Given the description of an element on the screen output the (x, y) to click on. 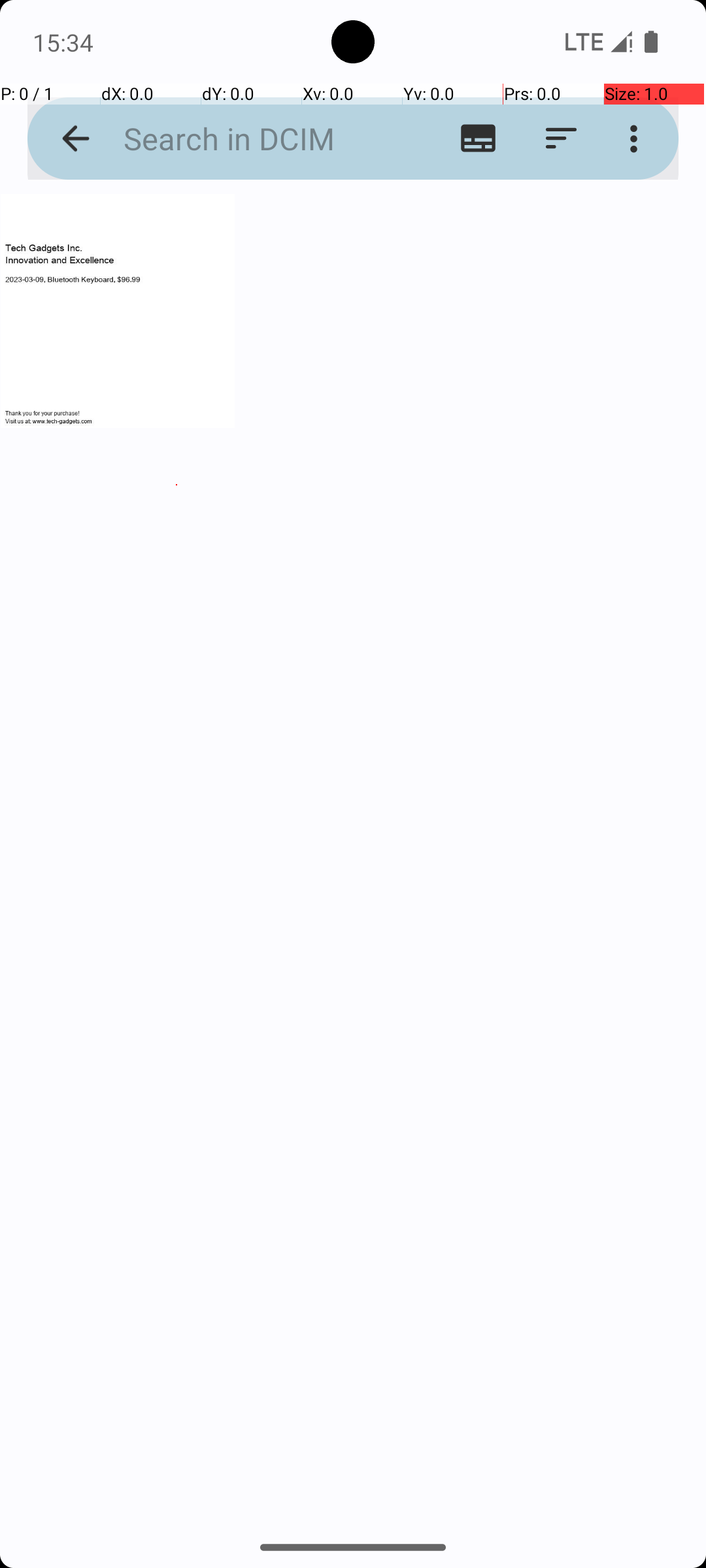
Search in DCIM Element type: android.widget.EditText (252, 138)
Toggle filename visibility Element type: android.widget.Button (477, 138)
